Given the description of an element on the screen output the (x, y) to click on. 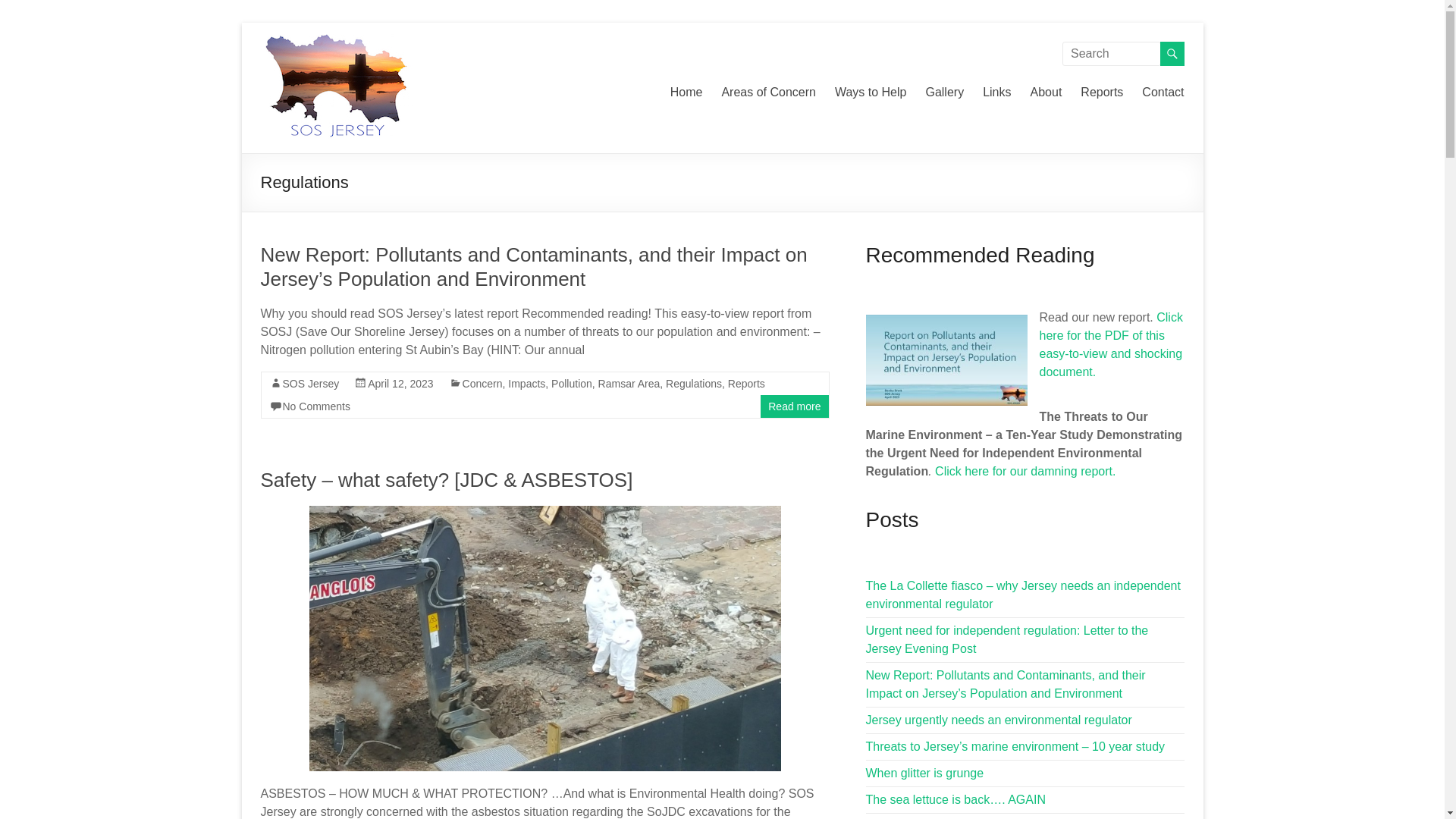
Links (996, 92)
Impacts (526, 383)
Contact (1162, 92)
About (1046, 92)
Reports (1101, 92)
Read more (794, 406)
Concern (482, 383)
Pollution (571, 383)
Areas of Concern (767, 92)
SOS Jersey (299, 68)
